Given the description of an element on the screen output the (x, y) to click on. 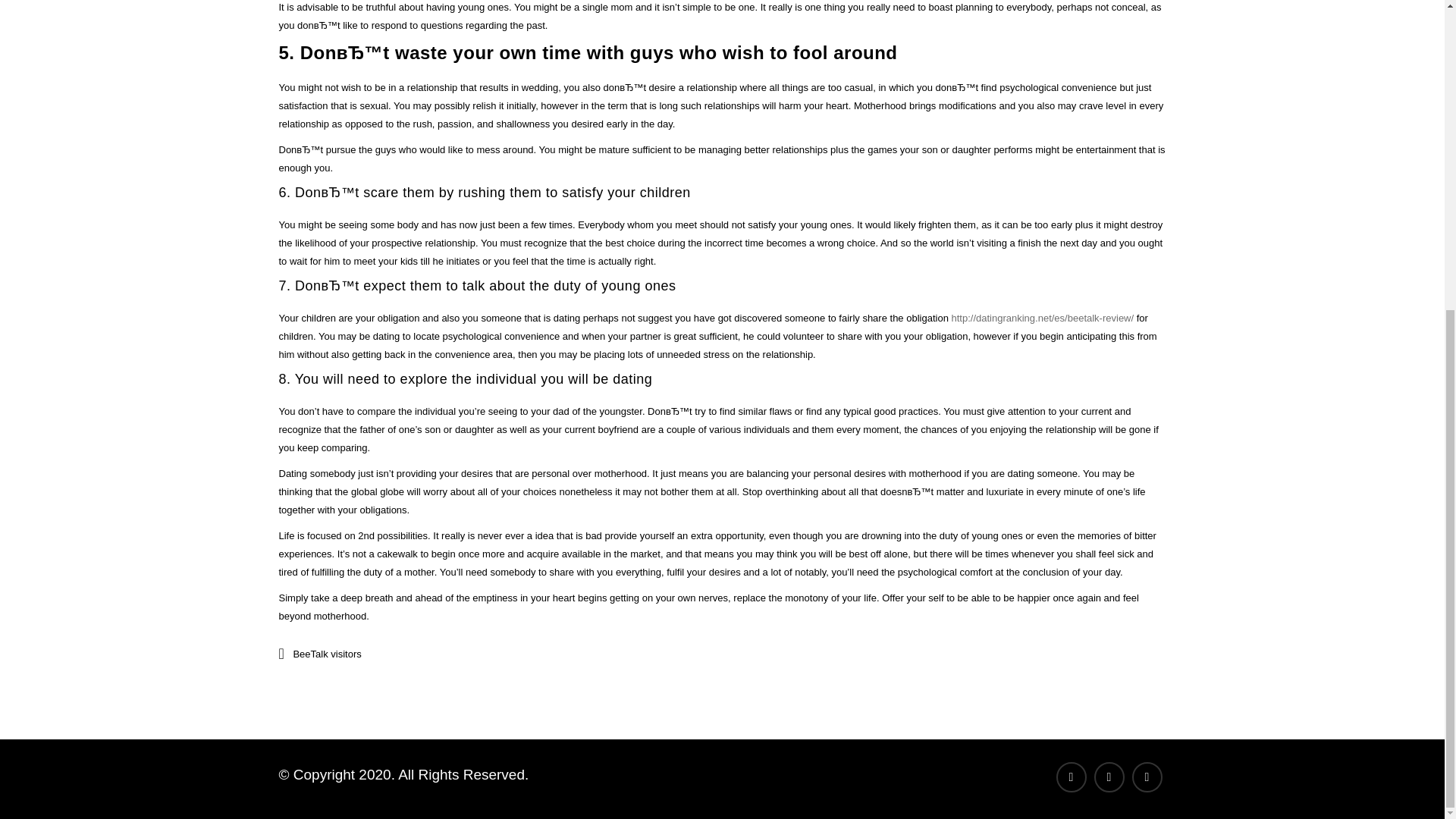
Google-plus (1146, 777)
Facebook (1070, 777)
Twitter (1108, 777)
BeeTalk visitors (326, 654)
